Given the description of an element on the screen output the (x, y) to click on. 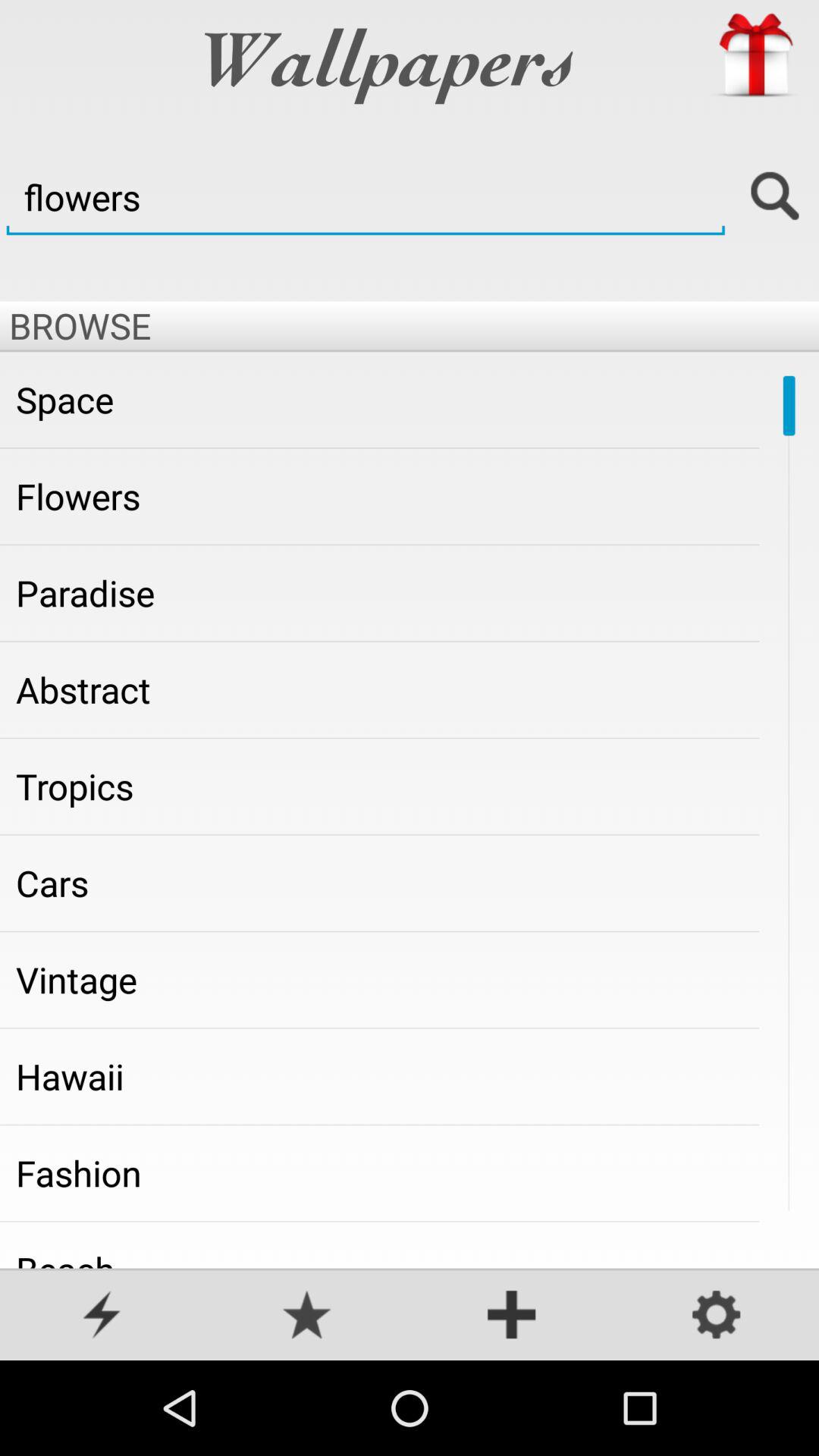
search button (775, 197)
